Given the description of an element on the screen output the (x, y) to click on. 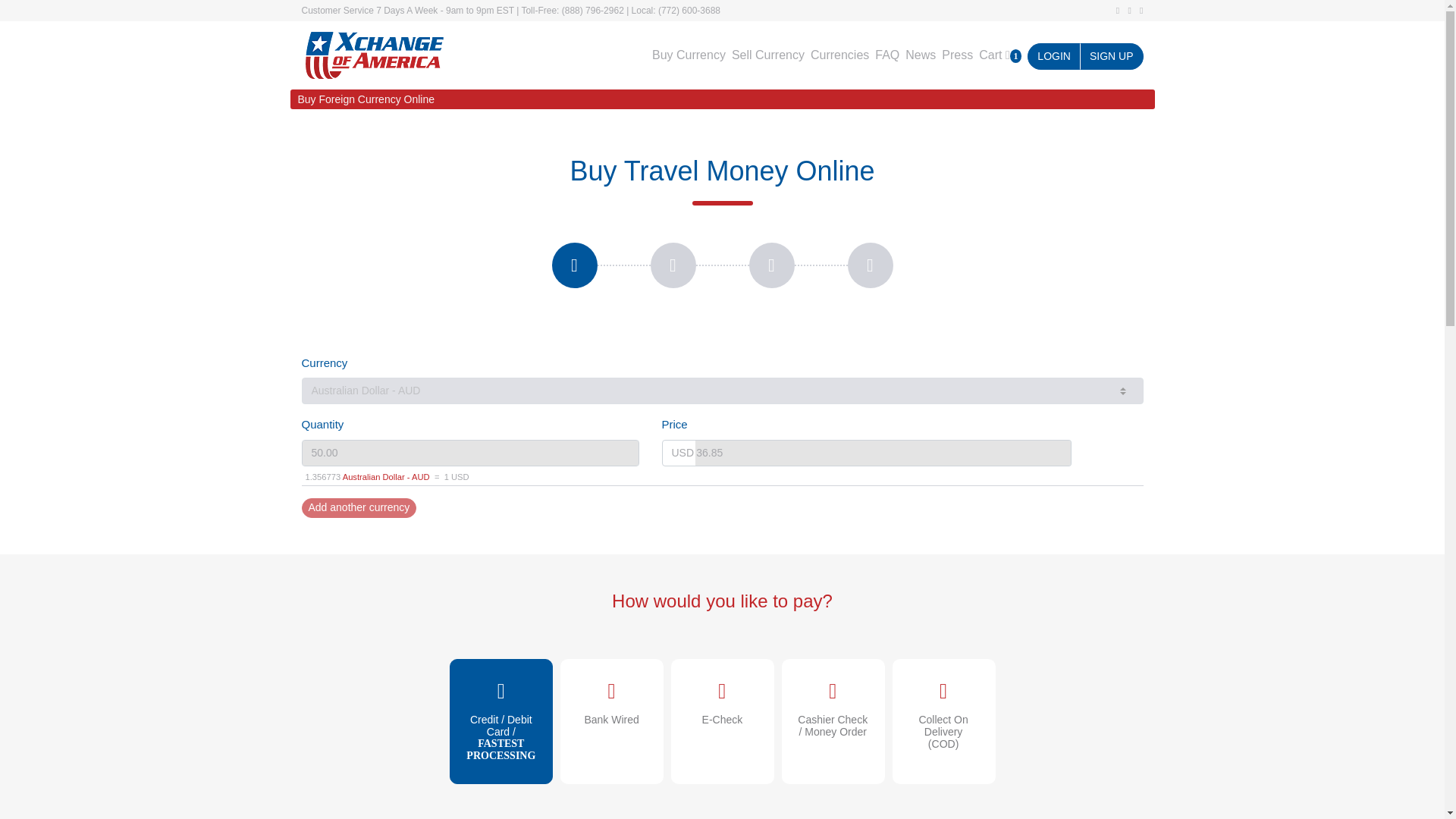
Add another currency (358, 507)
3 (833, 685)
5 (944, 685)
SIGN UP (1111, 56)
Press (954, 55)
50.00 (470, 452)
Xchange Of America In The Press (954, 55)
Currencies (837, 55)
Sell Currency Online (765, 55)
1 (612, 685)
News (917, 55)
Buy Currency (685, 55)
LOGIN (1053, 56)
4 (501, 685)
2 (722, 685)
